Given the description of an element on the screen output the (x, y) to click on. 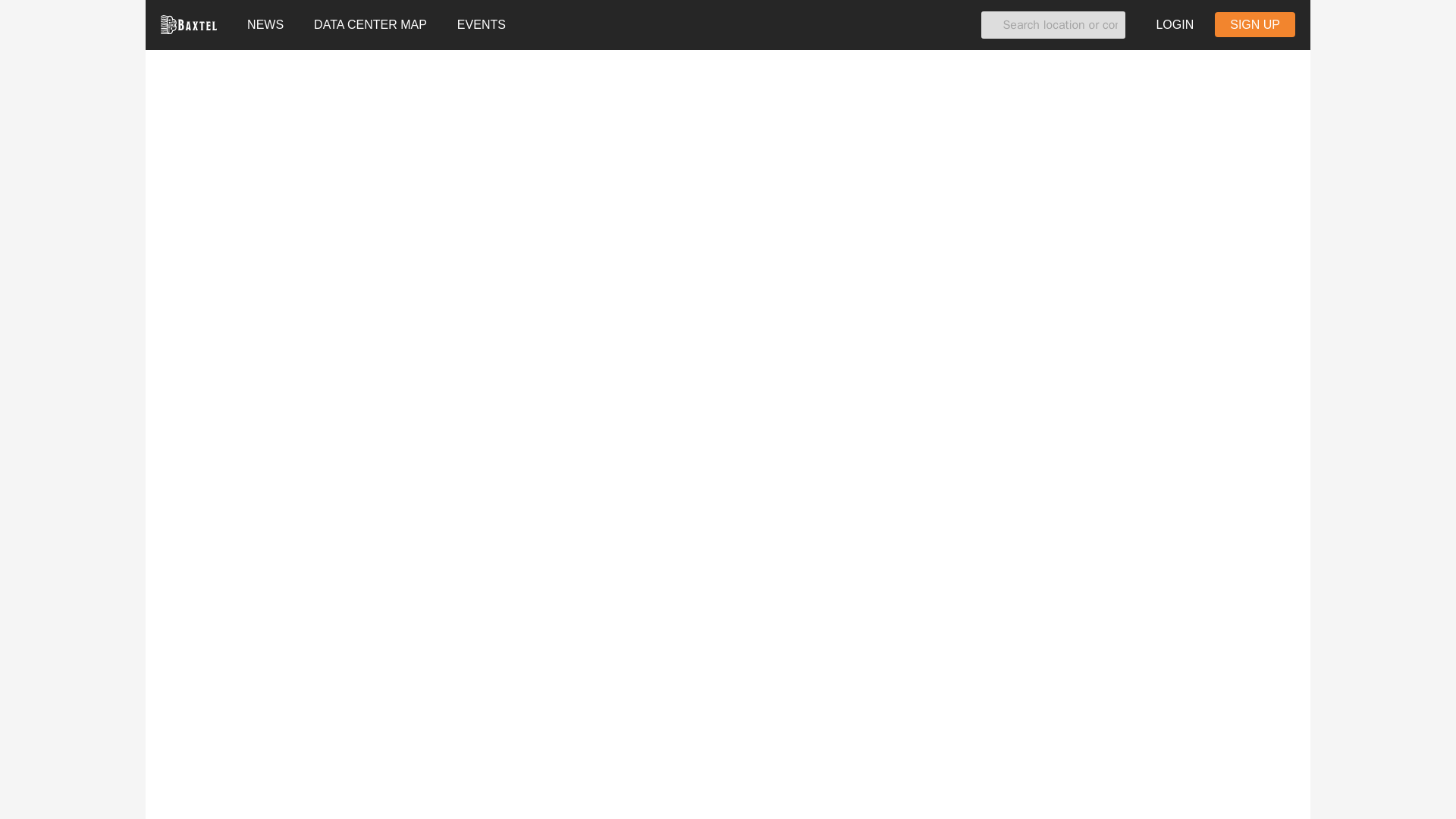
EVENTS (481, 24)
NEWS (264, 24)
Baxtel (188, 24)
DATA CENTER MAP (370, 24)
